Given the description of an element on the screen output the (x, y) to click on. 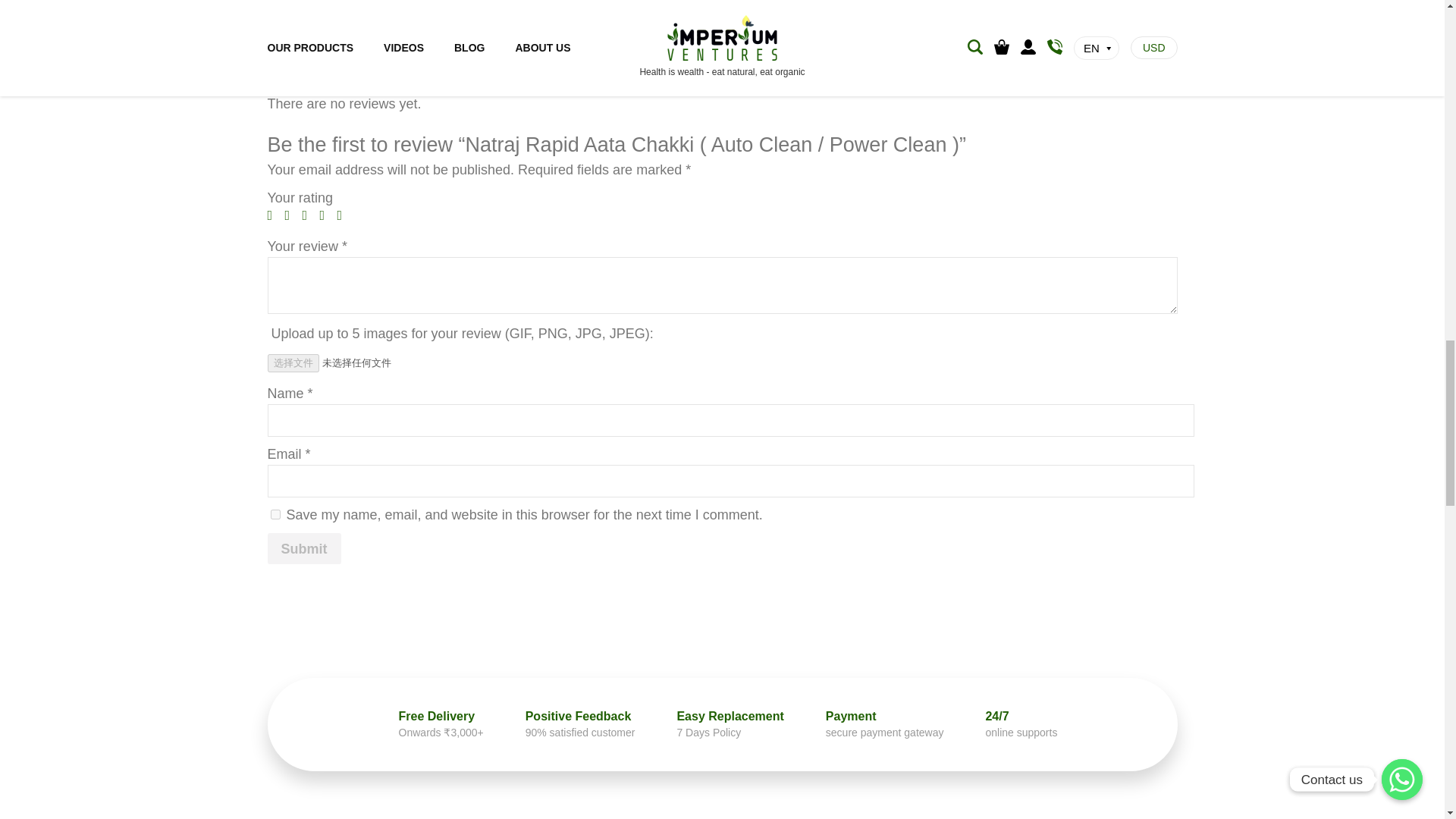
Submit (303, 548)
yes (274, 514)
